Given the description of an element on the screen output the (x, y) to click on. 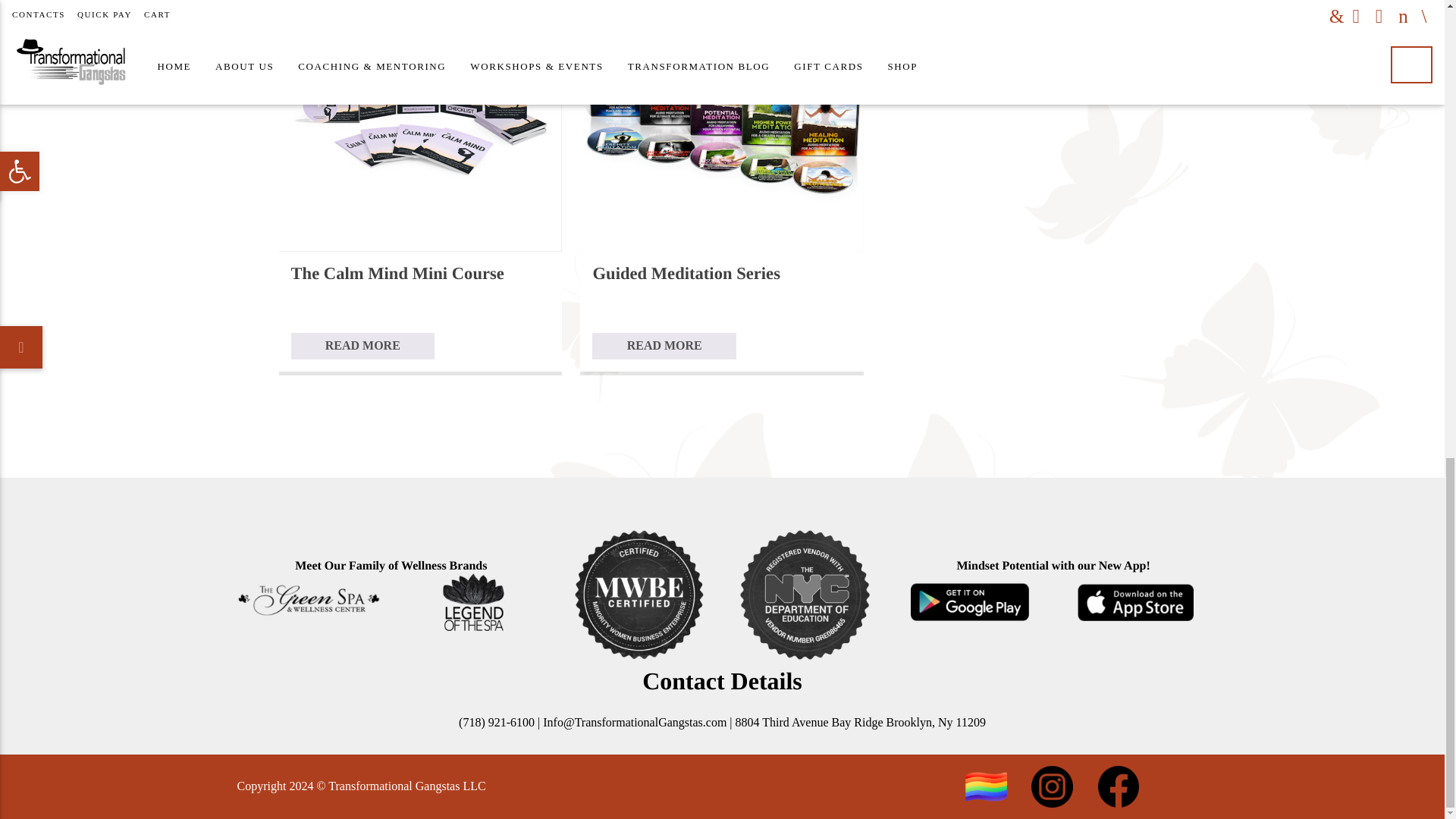
spa black (473, 601)
FB icon-01 (1117, 785)
mwbe-1024x1024 (638, 594)
App Store (1135, 601)
green spa black (306, 601)
NYC-1024x1024 (804, 594)
lgbtq-flag (985, 786)
insta icon-01 (1050, 785)
google play (970, 601)
